Given the description of an element on the screen output the (x, y) to click on. 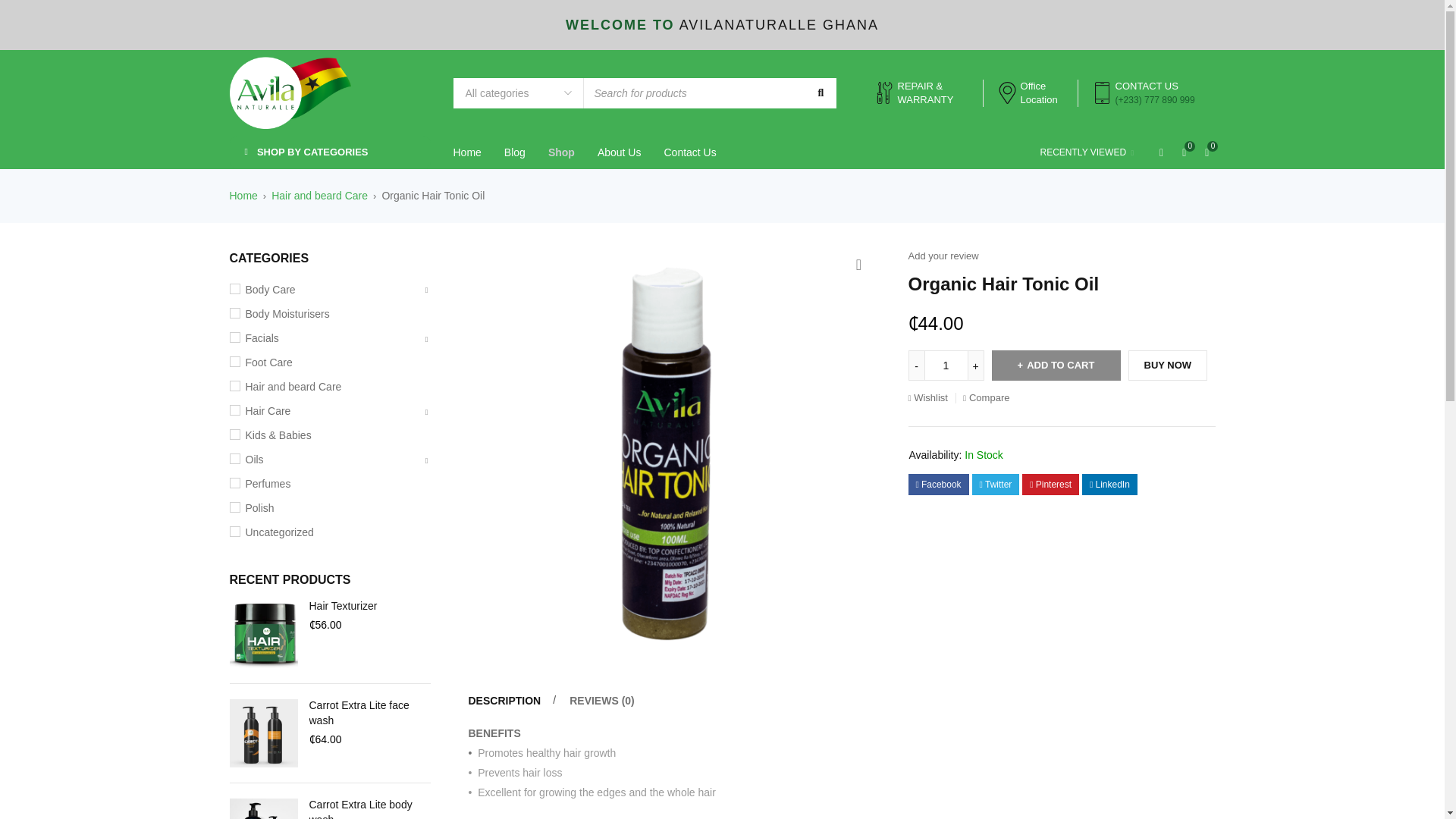
1 (945, 365)
Search (819, 92)
